Given the description of an element on the screen output the (x, y) to click on. 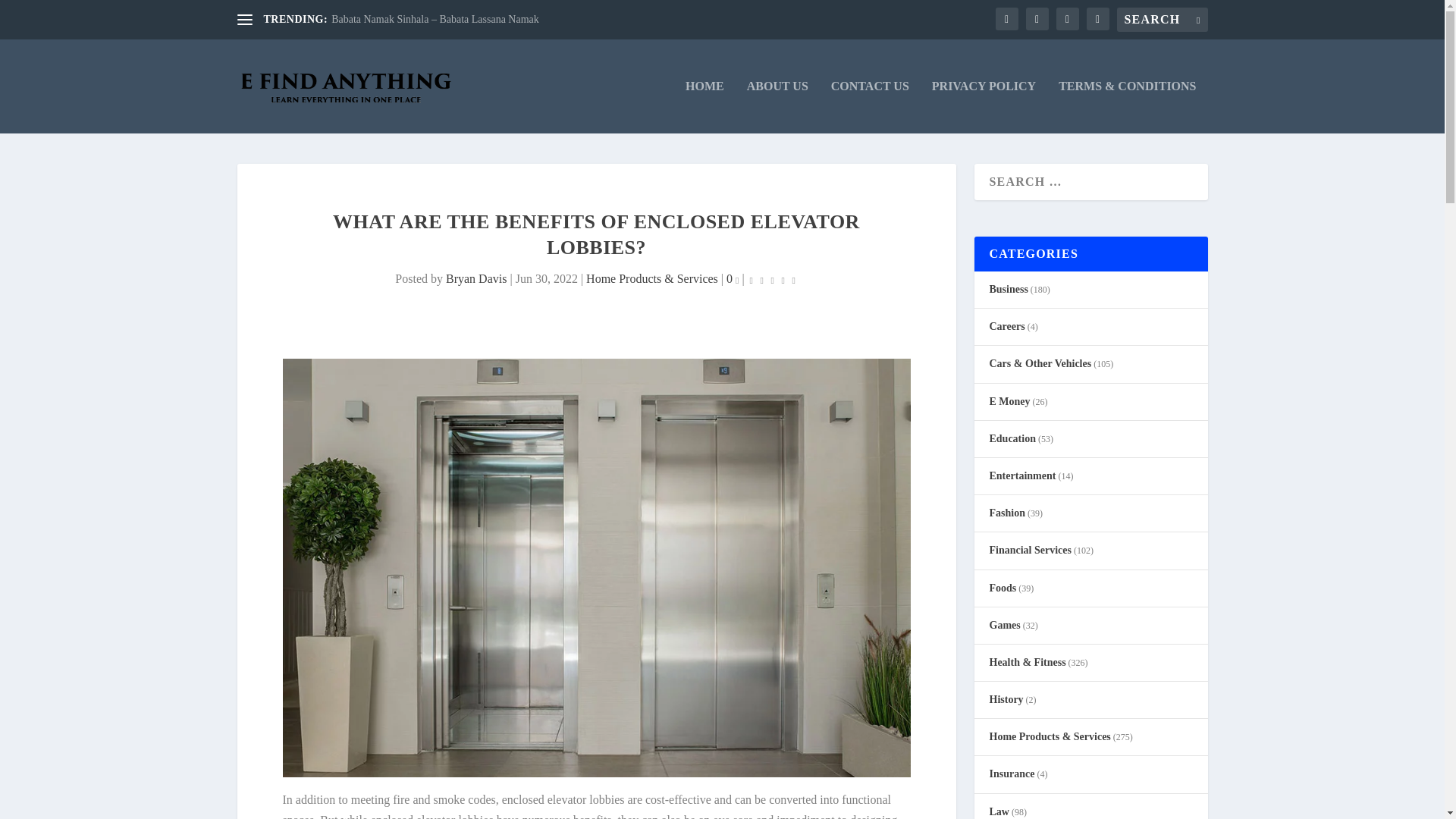
Rating: 0.00 (772, 279)
0 (732, 278)
Bryan Davis (475, 278)
CONTACT US (869, 106)
Search for: (1161, 19)
Posts by Bryan Davis (475, 278)
PRIVACY POLICY (983, 106)
ABOUT US (777, 106)
